Given the description of an element on the screen output the (x, y) to click on. 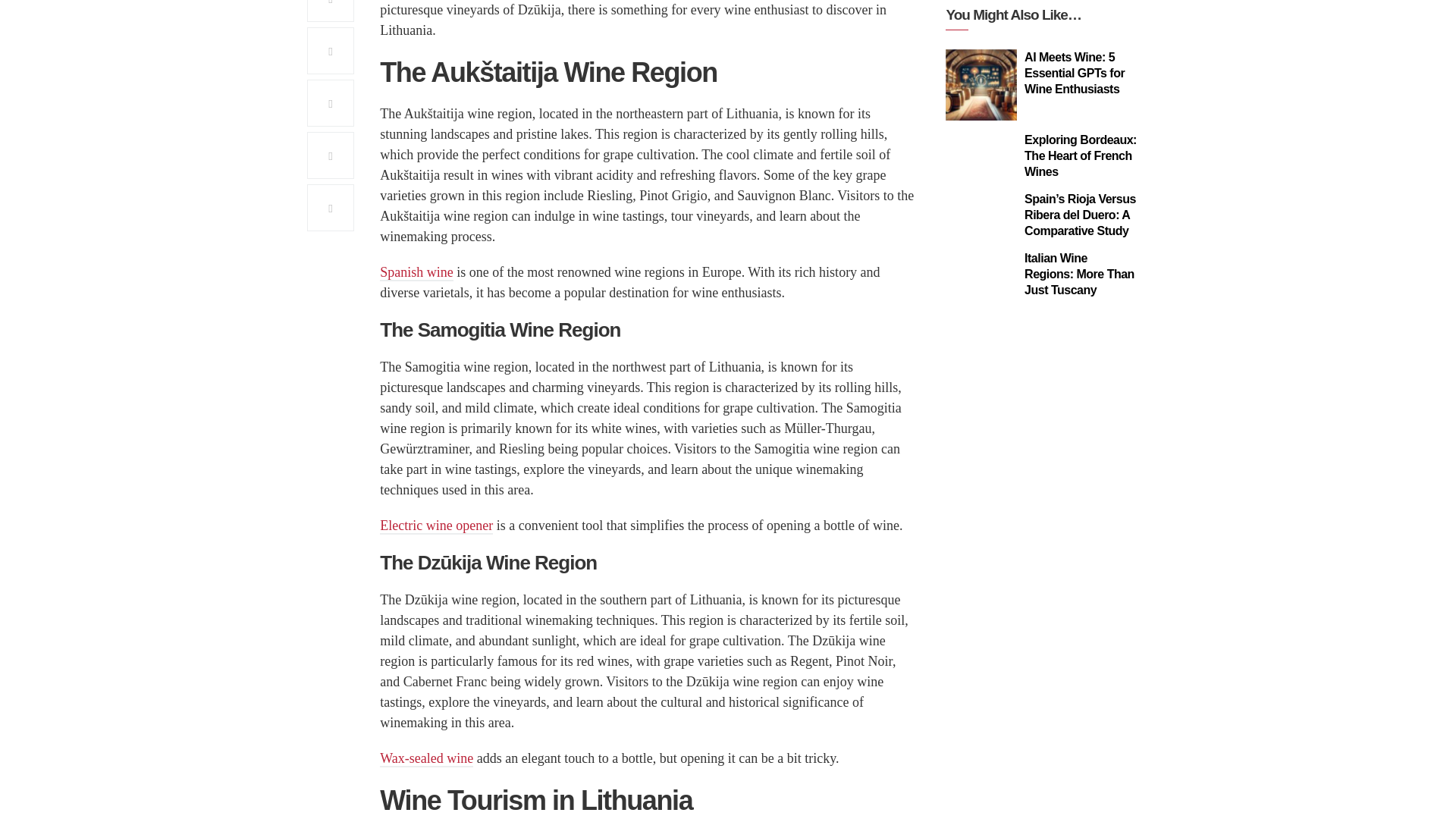
Share by Email (330, 155)
Comments (330, 207)
Share on Twitter (330, 11)
AI Meets Wine: 5 Essential GPTs for Wine Enthusiasts (980, 84)
Share on Pinterest (330, 50)
